Given the description of an element on the screen output the (x, y) to click on. 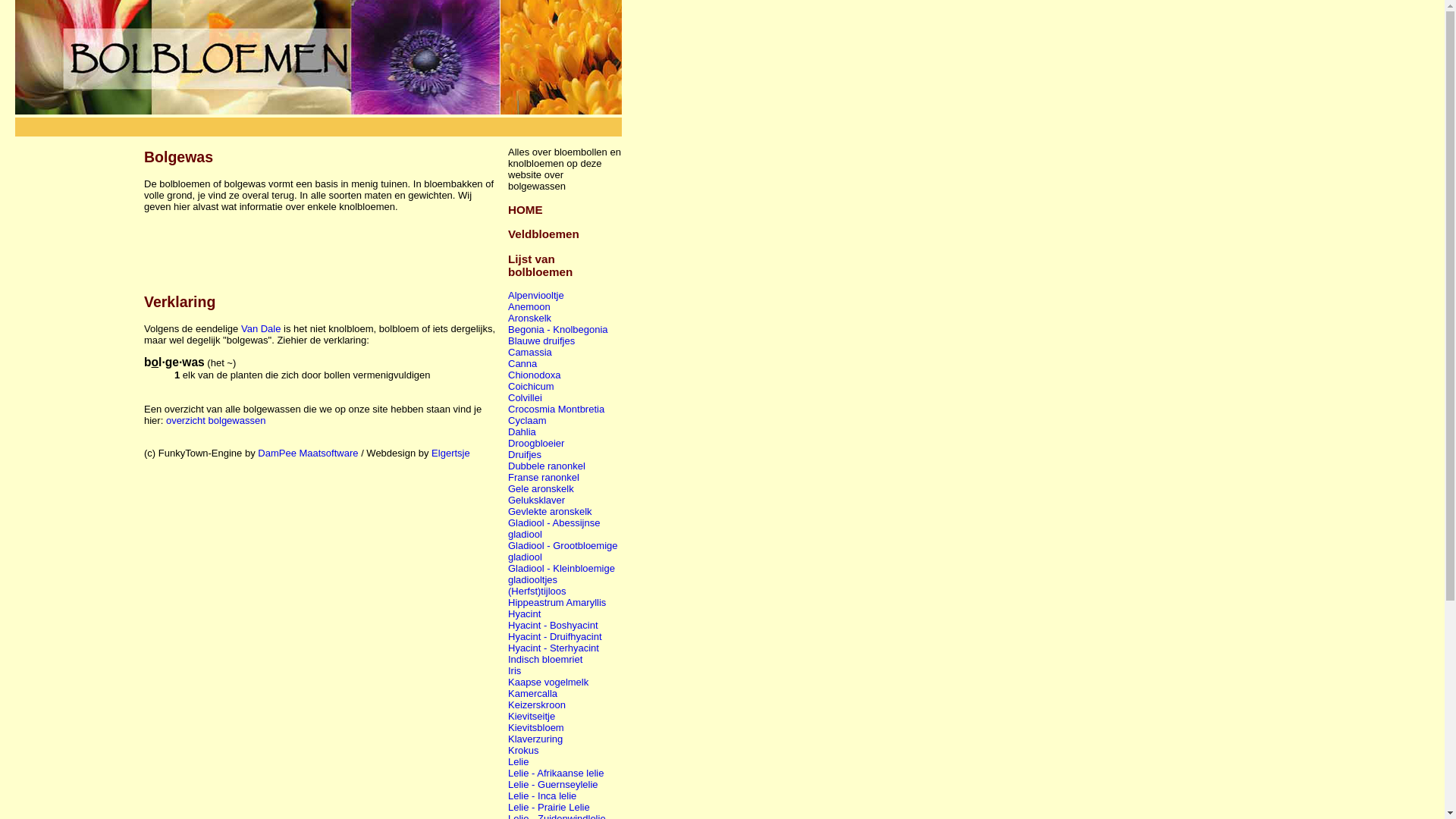
Canna Element type: text (522, 363)
Colvillei Element type: text (525, 397)
Hyacint - Boshyacint Element type: text (553, 624)
Klaverzuring Element type: text (535, 738)
Kaapse vogelmelk Element type: text (548, 681)
Gevlekte aronskelk Element type: text (550, 511)
Lelie Element type: text (518, 761)
Krokus Element type: text (523, 750)
Camassia Element type: text (530, 351)
Chionodoxa Element type: text (534, 374)
Elgertsje Element type: text (450, 452)
Gele aronskelk Element type: text (541, 488)
Kievitsbloem Element type: text (536, 727)
Kievitseitje Element type: text (531, 715)
Advertisement Element type: hover (321, 246)
Kamercalla Element type: text (532, 693)
Lelie - Inca lelie Element type: text (542, 795)
Lelie - Guernseylelie Element type: text (553, 784)
Dahlia Element type: text (522, 431)
Cyclaam Element type: text (527, 420)
Droogbloeier Element type: text (536, 442)
Keizerskroon Element type: text (536, 704)
Advertisement Element type: hover (75, 363)
HOME Element type: text (525, 209)
Indisch bloemriet Element type: text (545, 659)
Gladiool - Kleinbloemige gladiooltjes Element type: text (561, 573)
Geluksklaver Element type: text (536, 499)
Lelie - Prairie Lelie Element type: text (548, 806)
overzicht bolgewassen Element type: text (216, 420)
Hyacint - Sterhyacint Element type: text (553, 647)
Hippeastrum Amaryllis Element type: text (556, 602)
Lijst van bolbloemen Element type: text (540, 265)
Coichicum Element type: text (531, 386)
Gladiool - Grootbloemige gladiool Element type: text (563, 550)
Begonia - Knolbegonia Element type: text (558, 329)
Veldbloemen Element type: text (543, 233)
Gladiool - Abessijnse gladiool Element type: text (553, 528)
Hyacint - Druifhyacint Element type: text (555, 636)
Hyacint Element type: text (524, 613)
Advertisement Element type: hover (318, 122)
Dubbele ranonkel Element type: text (546, 465)
Van Dale Element type: text (261, 328)
Crocosmia Montbretia Element type: text (556, 408)
Alpenviooltje Element type: text (536, 295)
Druifjes Element type: text (524, 454)
Iris Element type: text (514, 670)
Anemoon Element type: text (529, 306)
DamPee Maatsoftware Element type: text (307, 452)
Blauwe druifjes Element type: text (541, 340)
Lelie - Afrikaanse lelie Element type: text (555, 772)
Aronskelk Element type: text (529, 317)
Franse ranonkel Element type: text (543, 477)
(Herfst)tijloos Element type: text (537, 590)
